Given the description of an element on the screen output the (x, y) to click on. 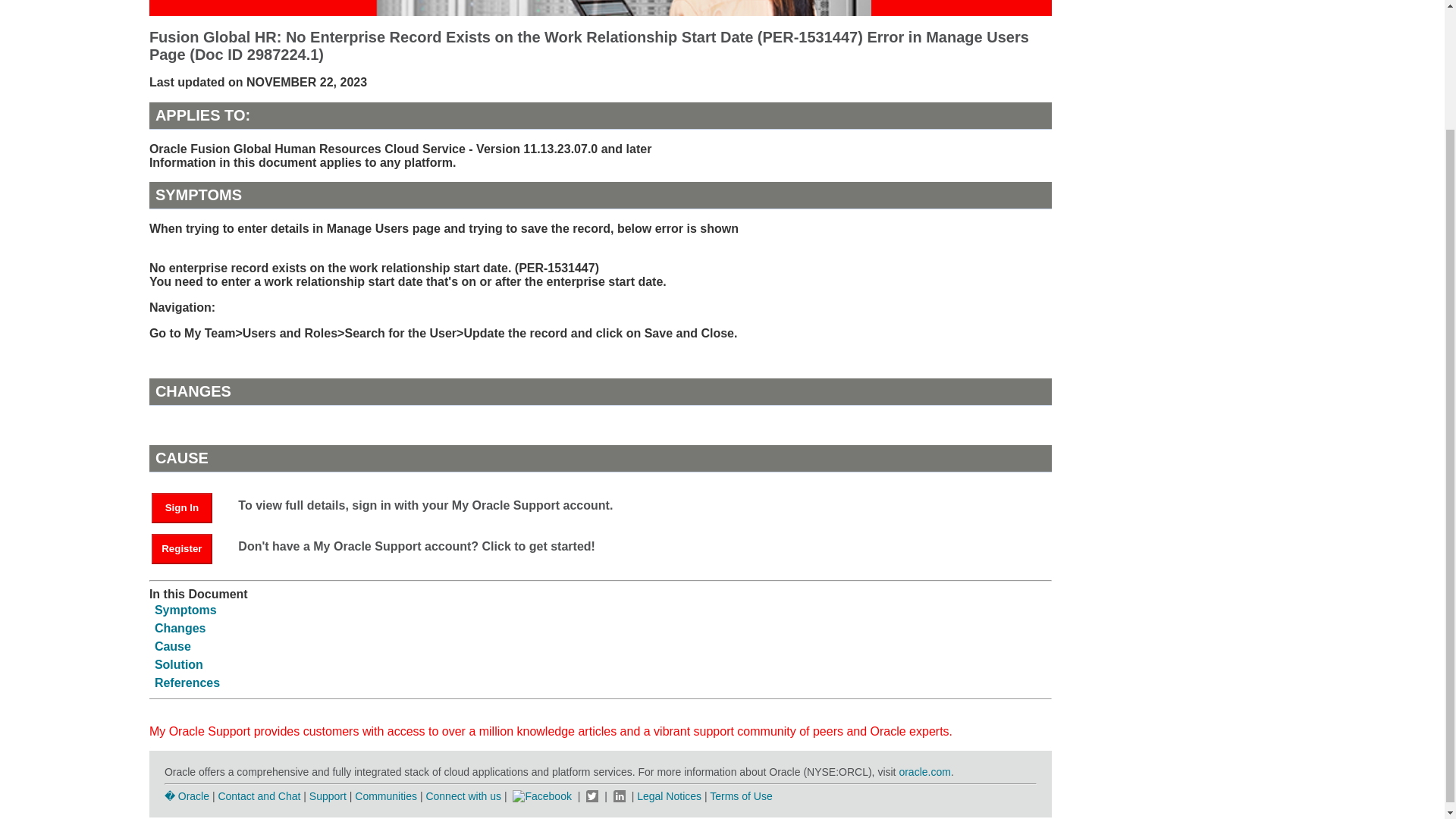
Contact and Chat (257, 796)
Connect with us (464, 796)
Communities (385, 796)
oracle.com (924, 771)
Solution (178, 664)
References (186, 682)
Symptoms (185, 609)
oracle.com (924, 771)
Register (181, 548)
Legal Notices (669, 796)
